Given the description of an element on the screen output the (x, y) to click on. 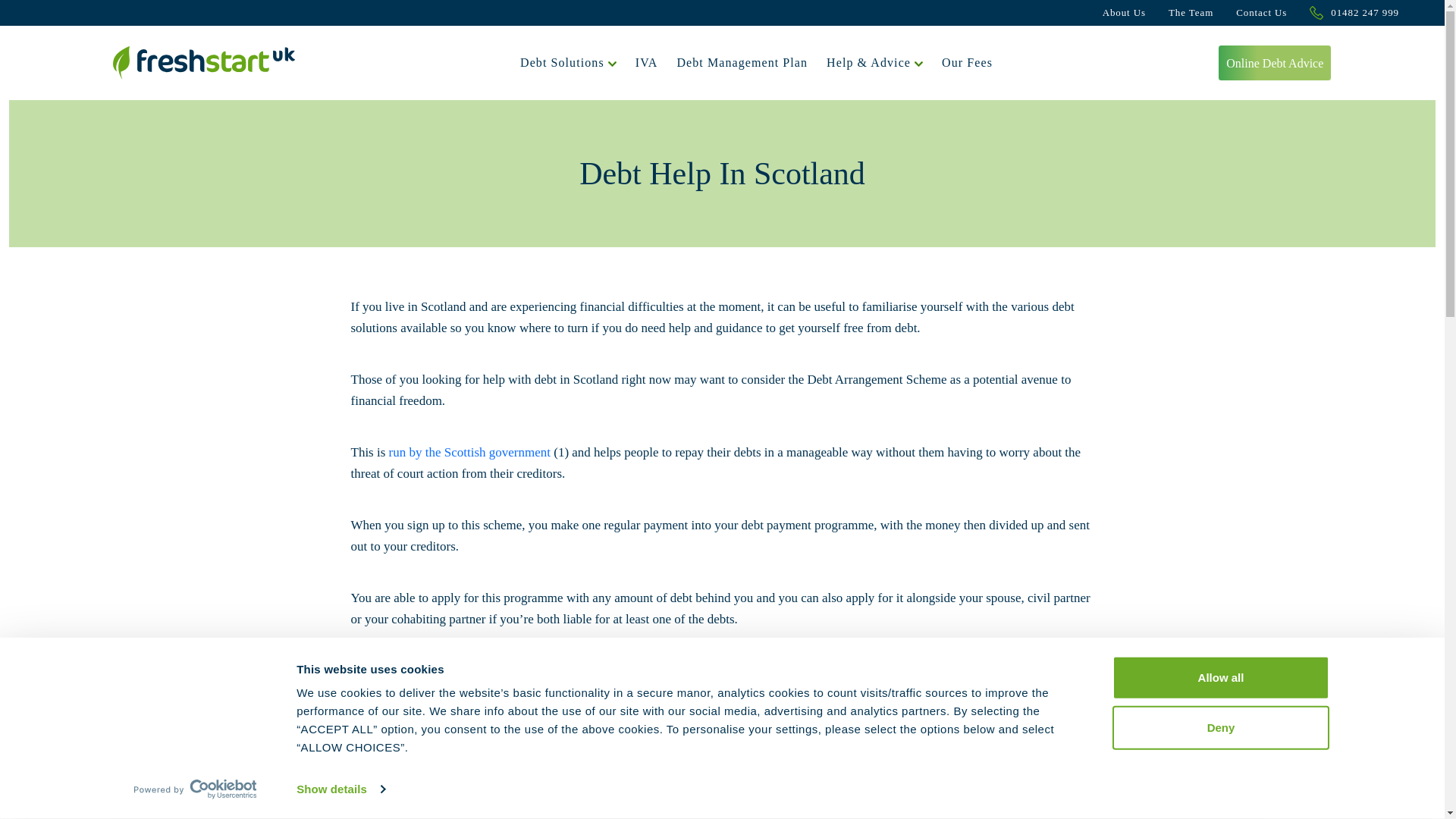
Show details (340, 789)
Deny (1219, 727)
About Us (1123, 13)
Allow all (1219, 678)
Contact Us (1261, 13)
Debt Solutions (567, 63)
01482 247 999 (1353, 13)
The Team (1190, 13)
